Given the description of an element on the screen output the (x, y) to click on. 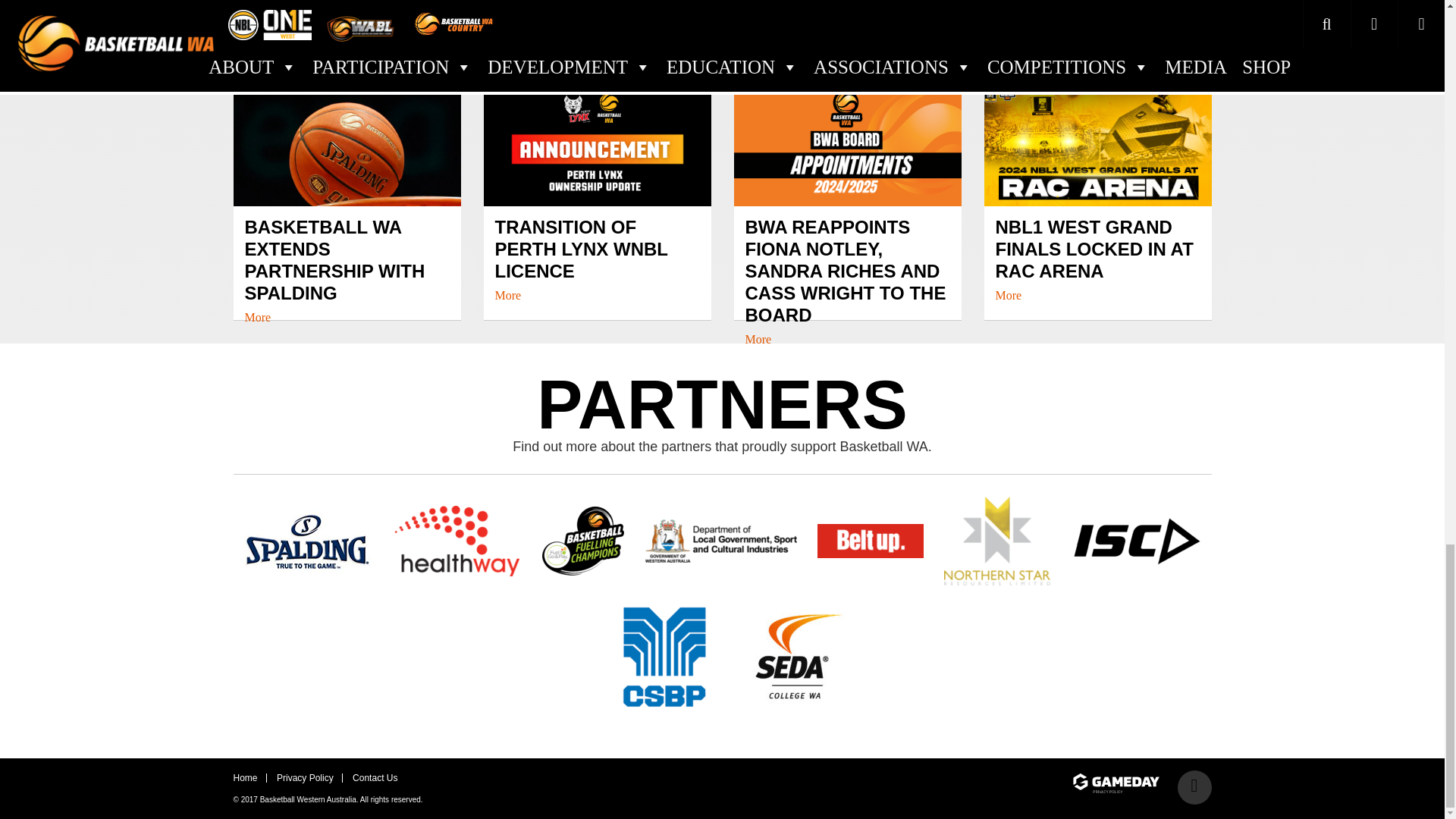
BASKETBALL WA EXTENDS PARTNERSHIP WITH SPALDING (346, 269)
more (257, 317)
